Given the description of an element on the screen output the (x, y) to click on. 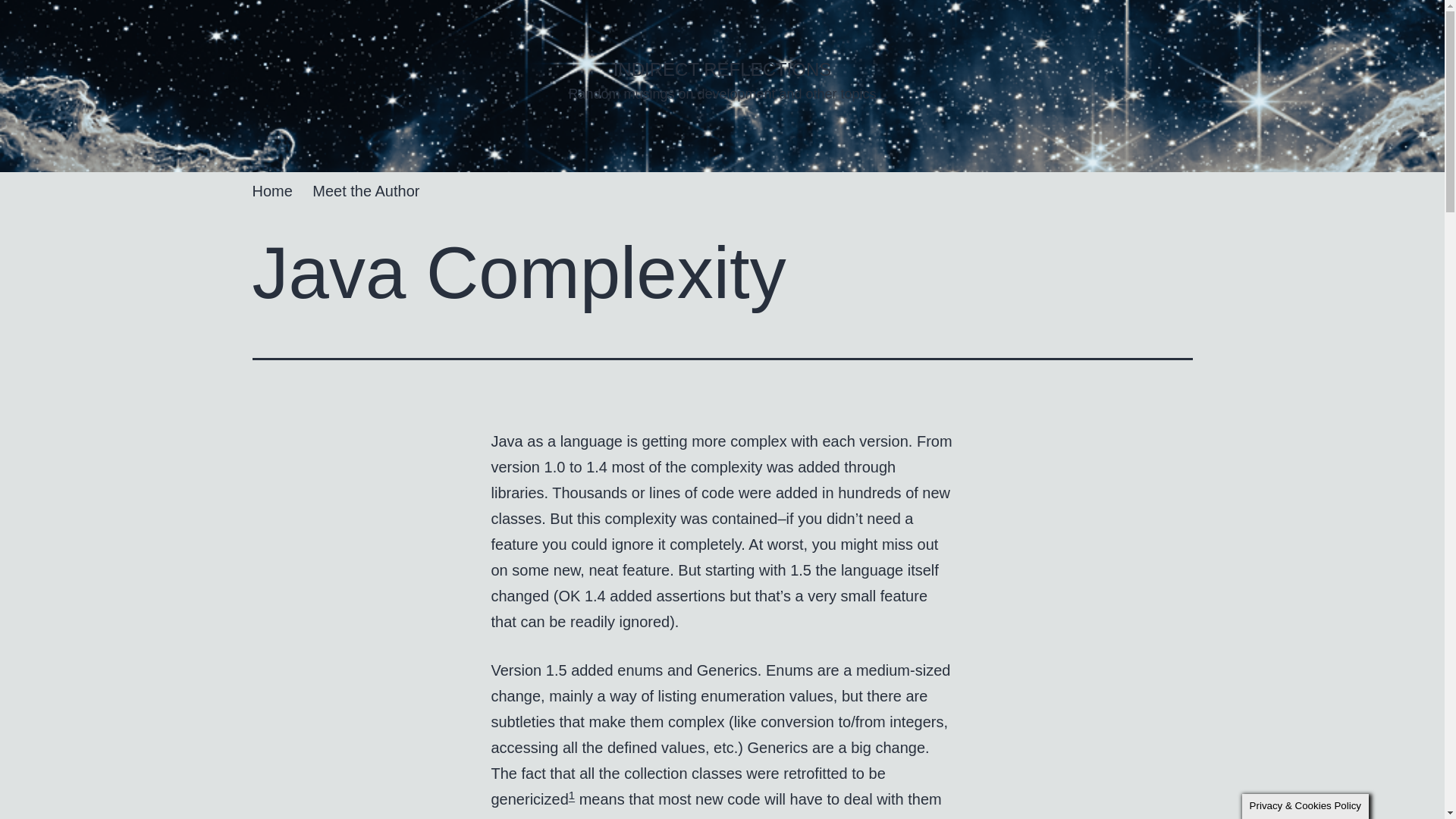
1 (572, 794)
Meet the Author (365, 190)
Home (271, 190)
INDIRECT REFLECTIONS (721, 68)
